Given the description of an element on the screen output the (x, y) to click on. 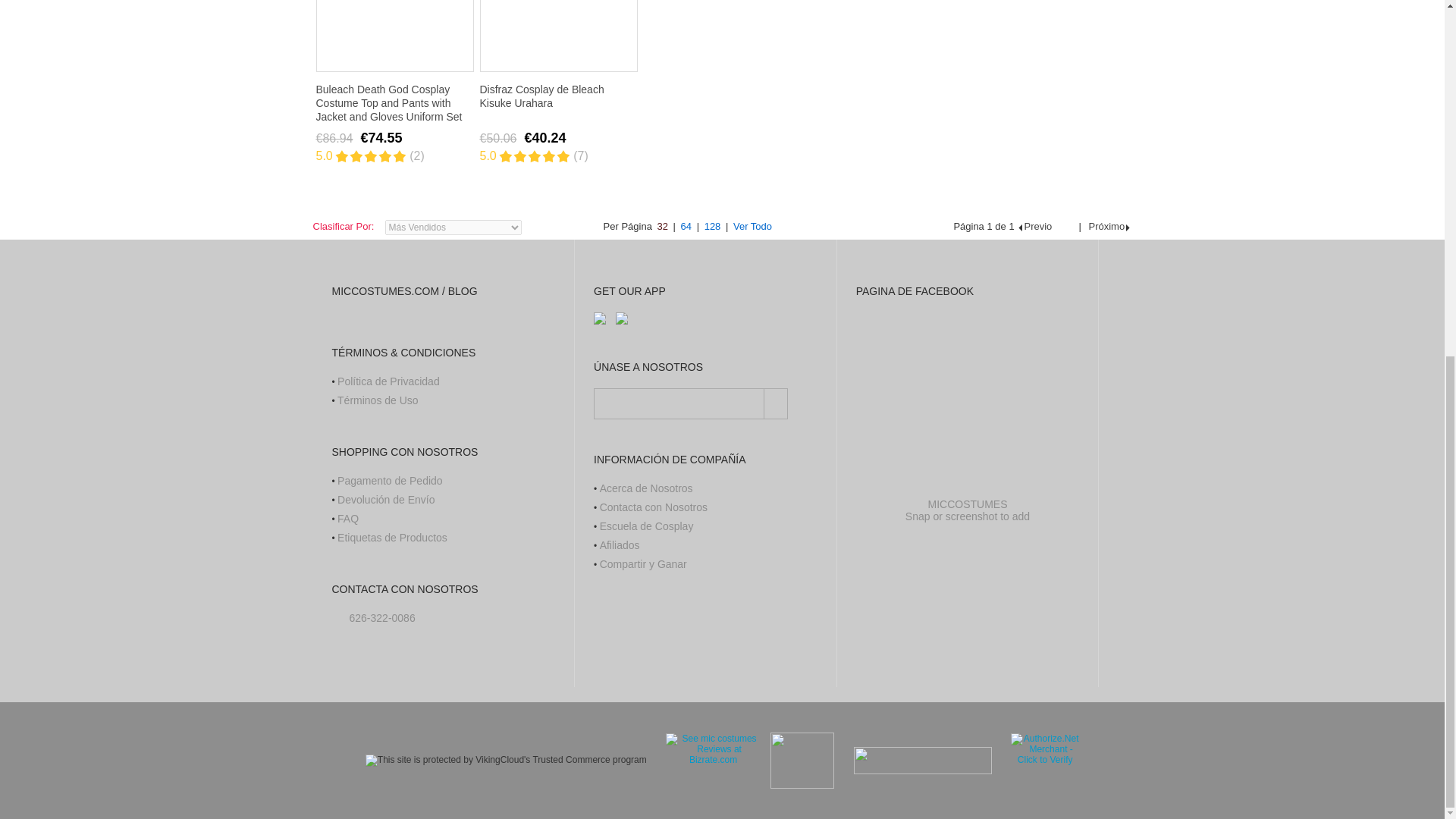
Modo de Lista (910, 226)
See mic costumes Reviews at Bizrate.com (705, 760)
